Given the description of an element on the screen output the (x, y) to click on. 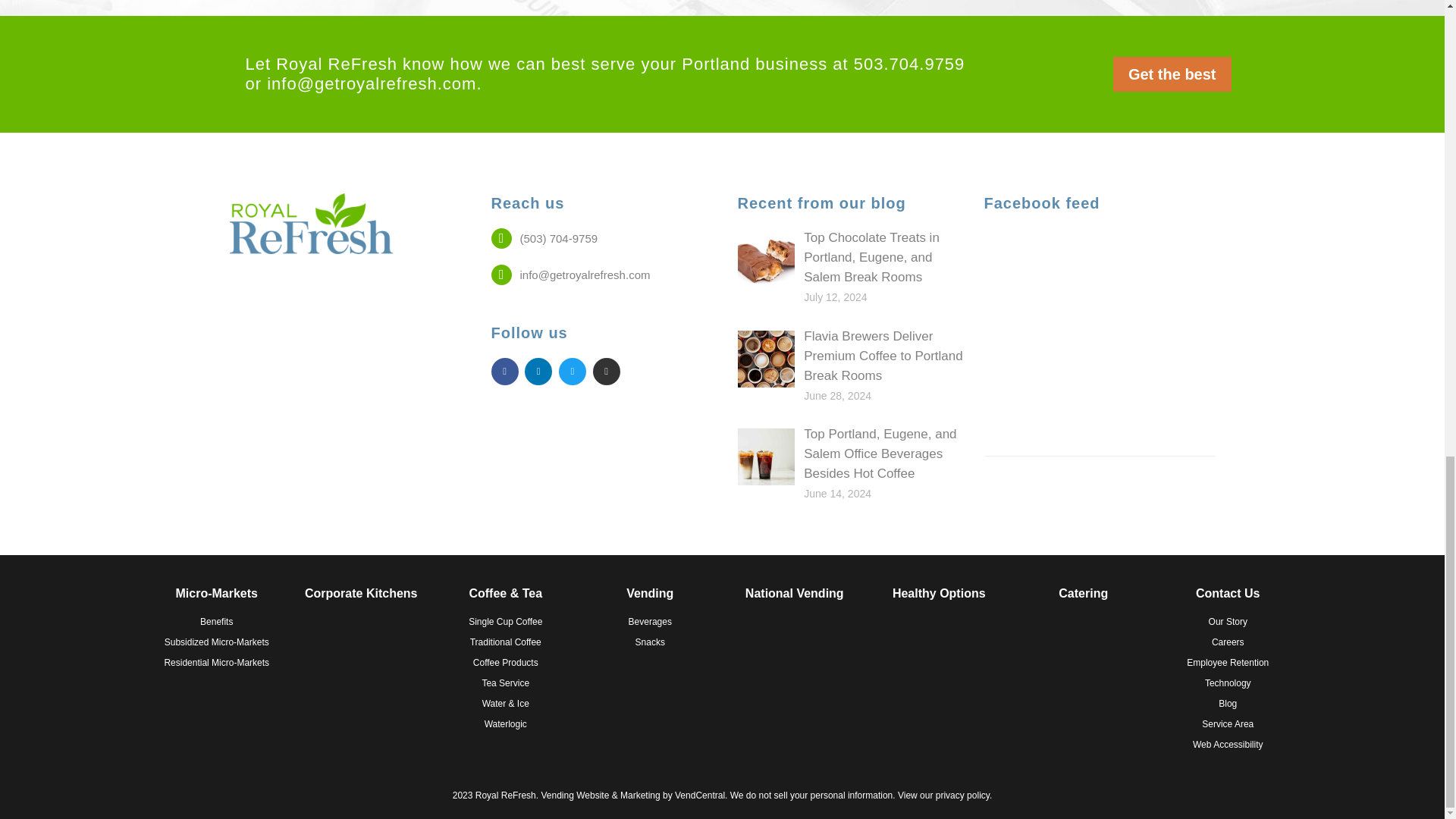
Blog (1228, 703)
Blog (606, 370)
LinkedIn (537, 370)
Facebook (505, 370)
Instagram (572, 370)
Web Accessibility (1228, 744)
Service Area (1228, 723)
